Given the description of an element on the screen output the (x, y) to click on. 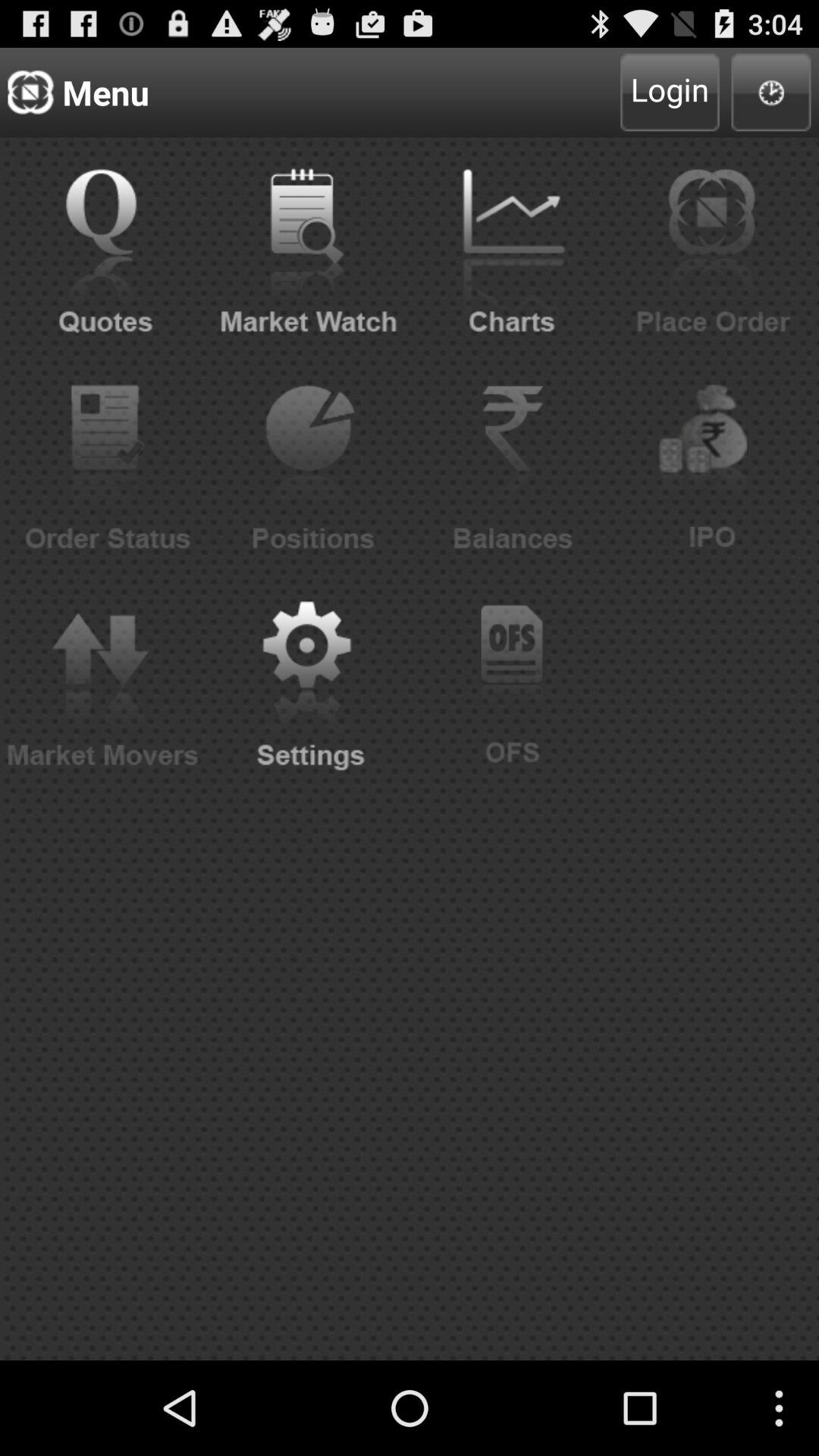
open login icon (669, 92)
